Given the description of an element on the screen output the (x, y) to click on. 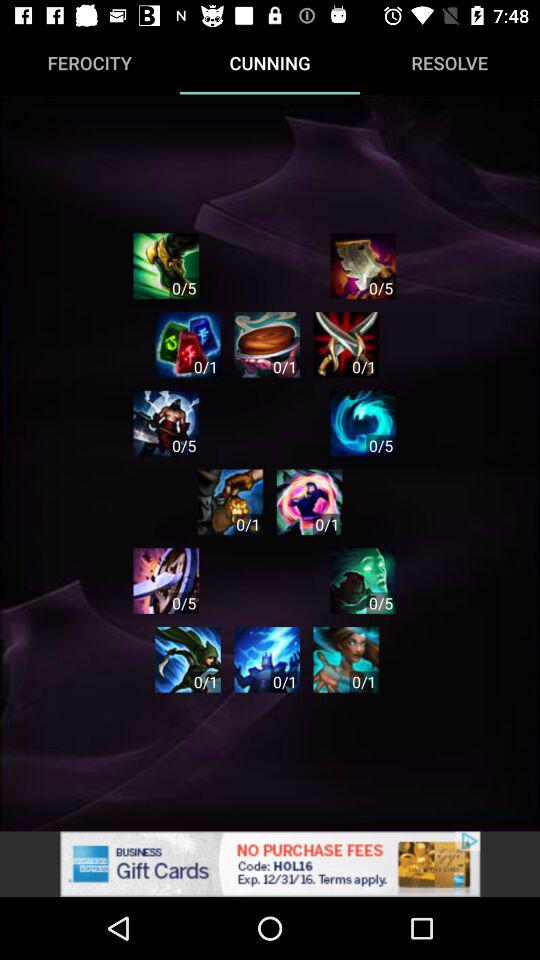
click to cunning characters (309, 502)
